Given the description of an element on the screen output the (x, y) to click on. 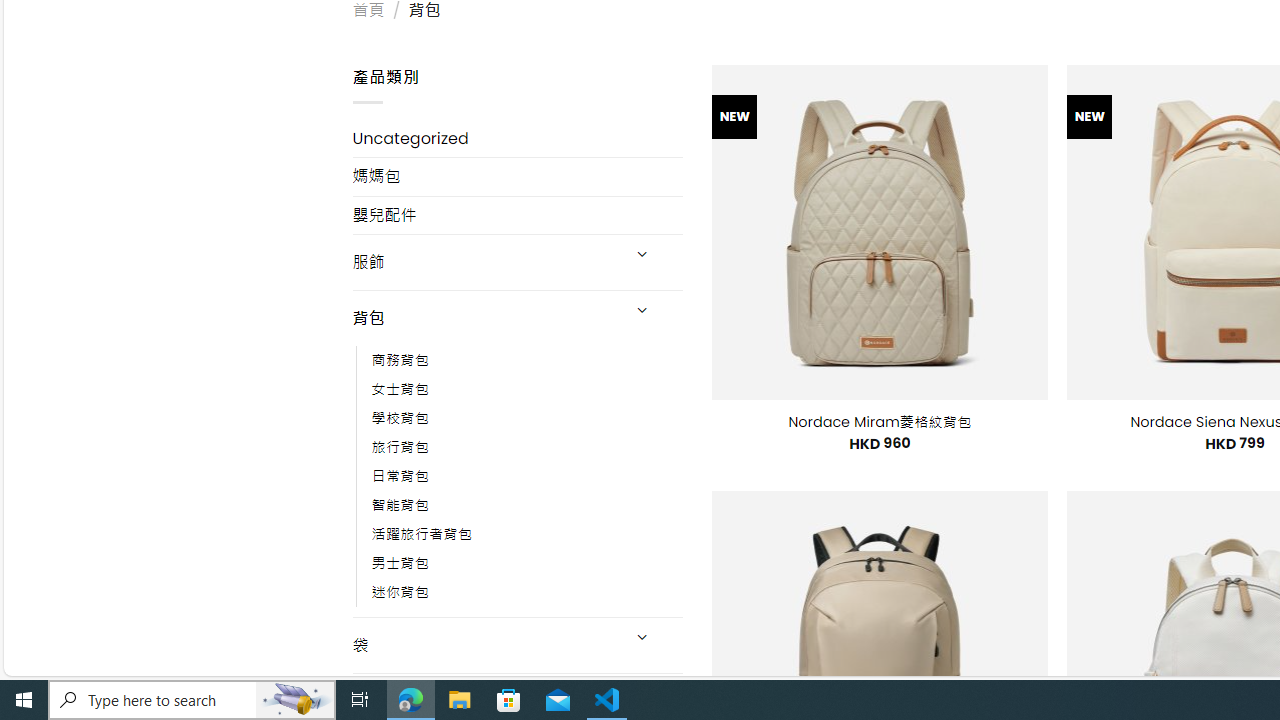
Uncategorized (517, 137)
